Given the description of an element on the screen output the (x, y) to click on. 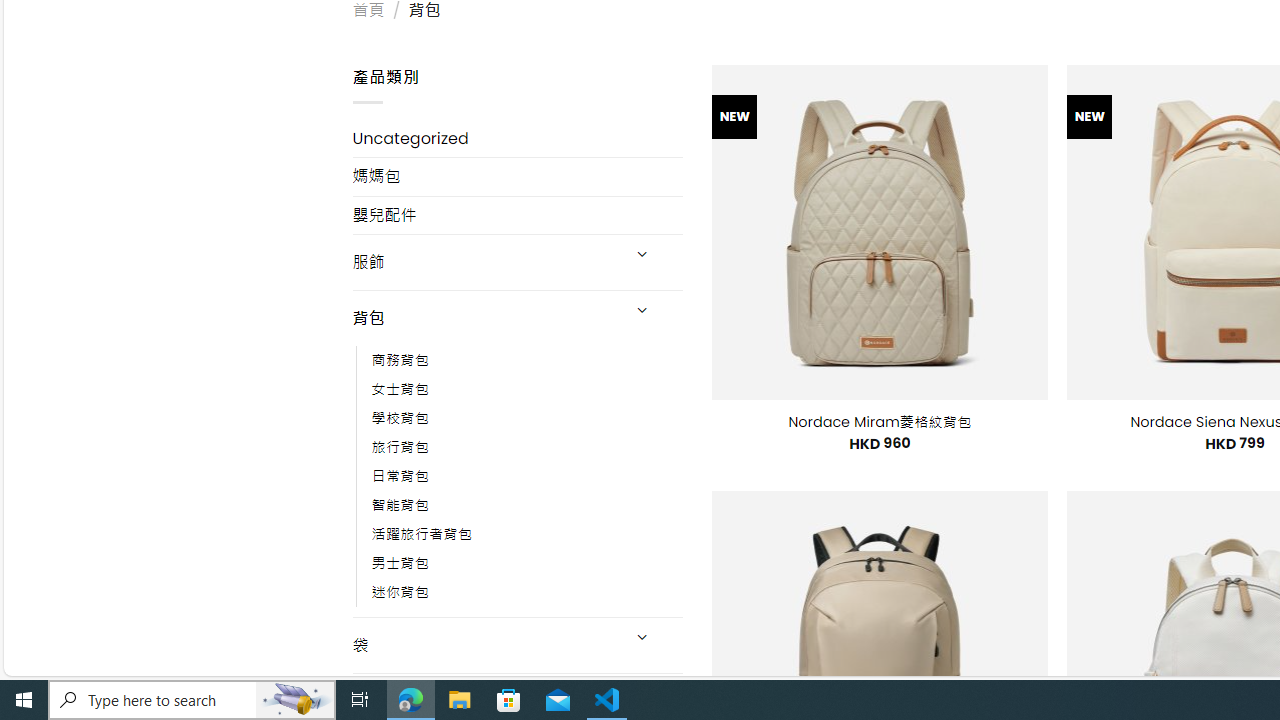
Uncategorized (517, 137)
